Given the description of an element on the screen output the (x, y) to click on. 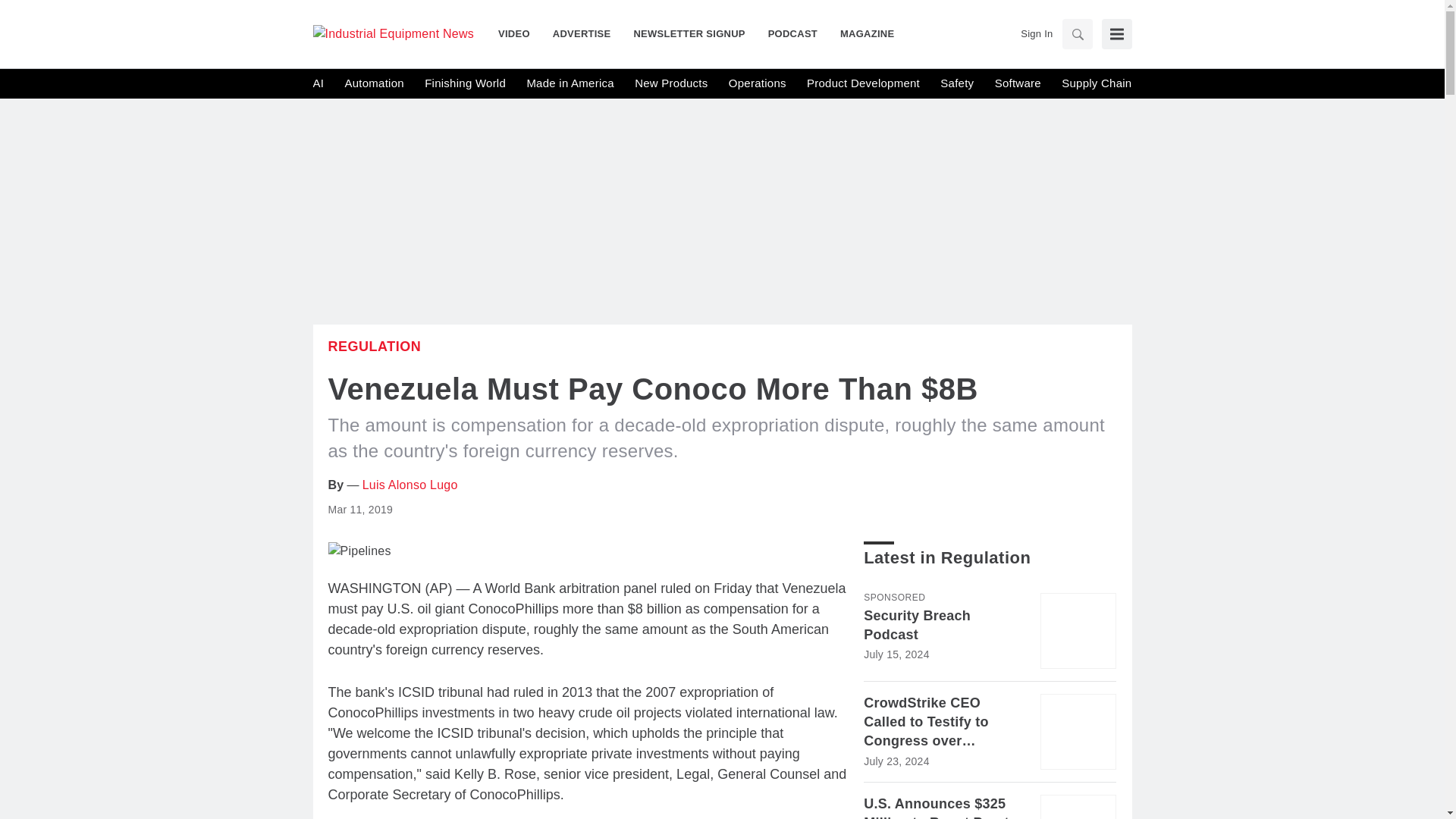
Safety (957, 83)
Operations (757, 83)
Automation (373, 83)
Sponsored (893, 596)
ADVERTISE (582, 33)
Finishing World (465, 83)
PODCAST (792, 33)
New Products (670, 83)
Made in America (568, 83)
VIDEO (519, 33)
NEWSLETTER SIGNUP (688, 33)
Regulation (373, 346)
MAGAZINE (860, 33)
Product Development (863, 83)
AI (318, 83)
